Given the description of an element on the screen output the (x, y) to click on. 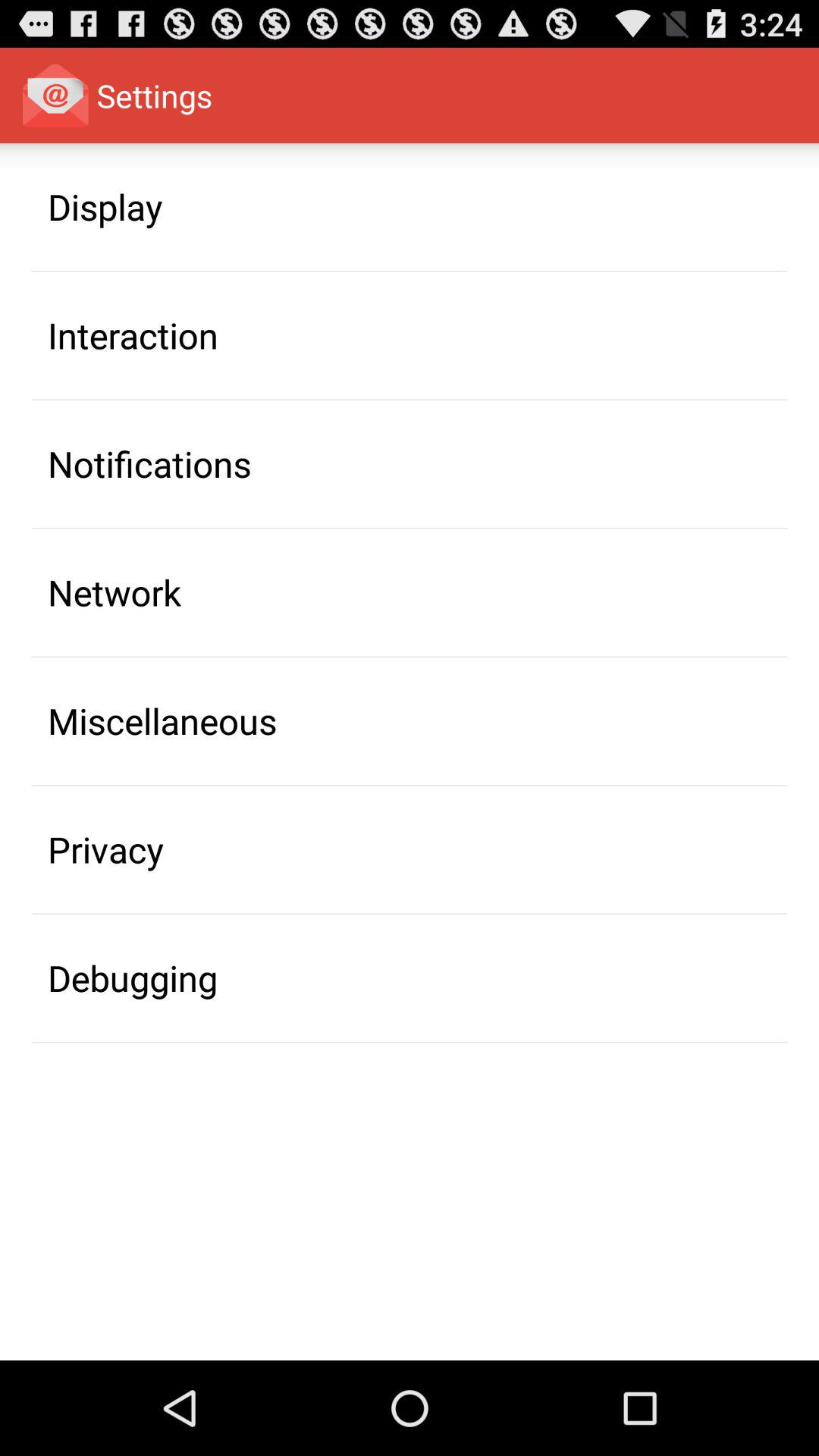
open the app above the debugging icon (105, 849)
